Given the description of an element on the screen output the (x, y) to click on. 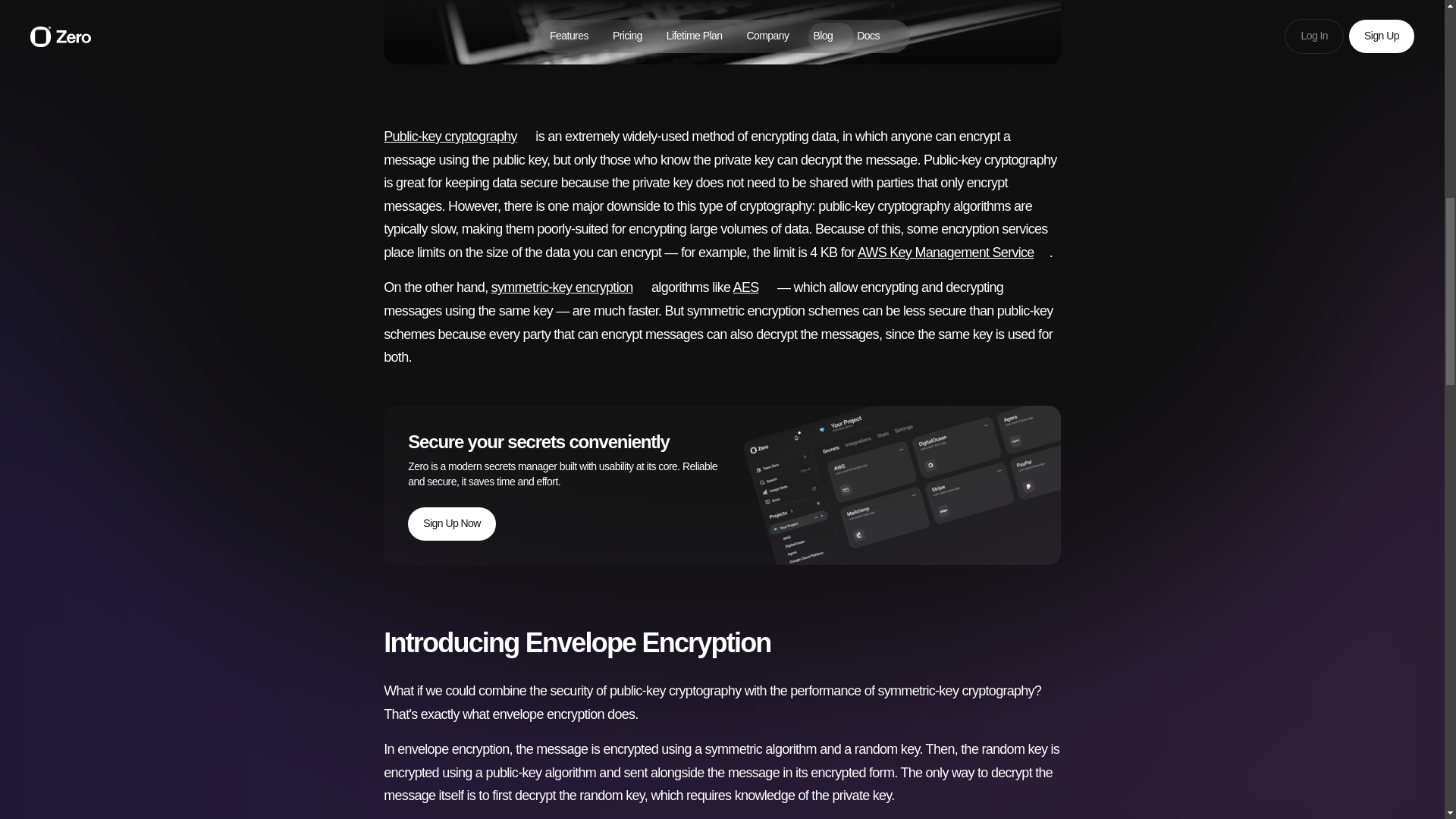
symmetric-key encryption  (569, 287)
Sign Up Now (451, 523)
AES  (753, 287)
AWS Key Management Service  (953, 252)
Public-key cryptography  (458, 136)
